Given the description of an element on the screen output the (x, y) to click on. 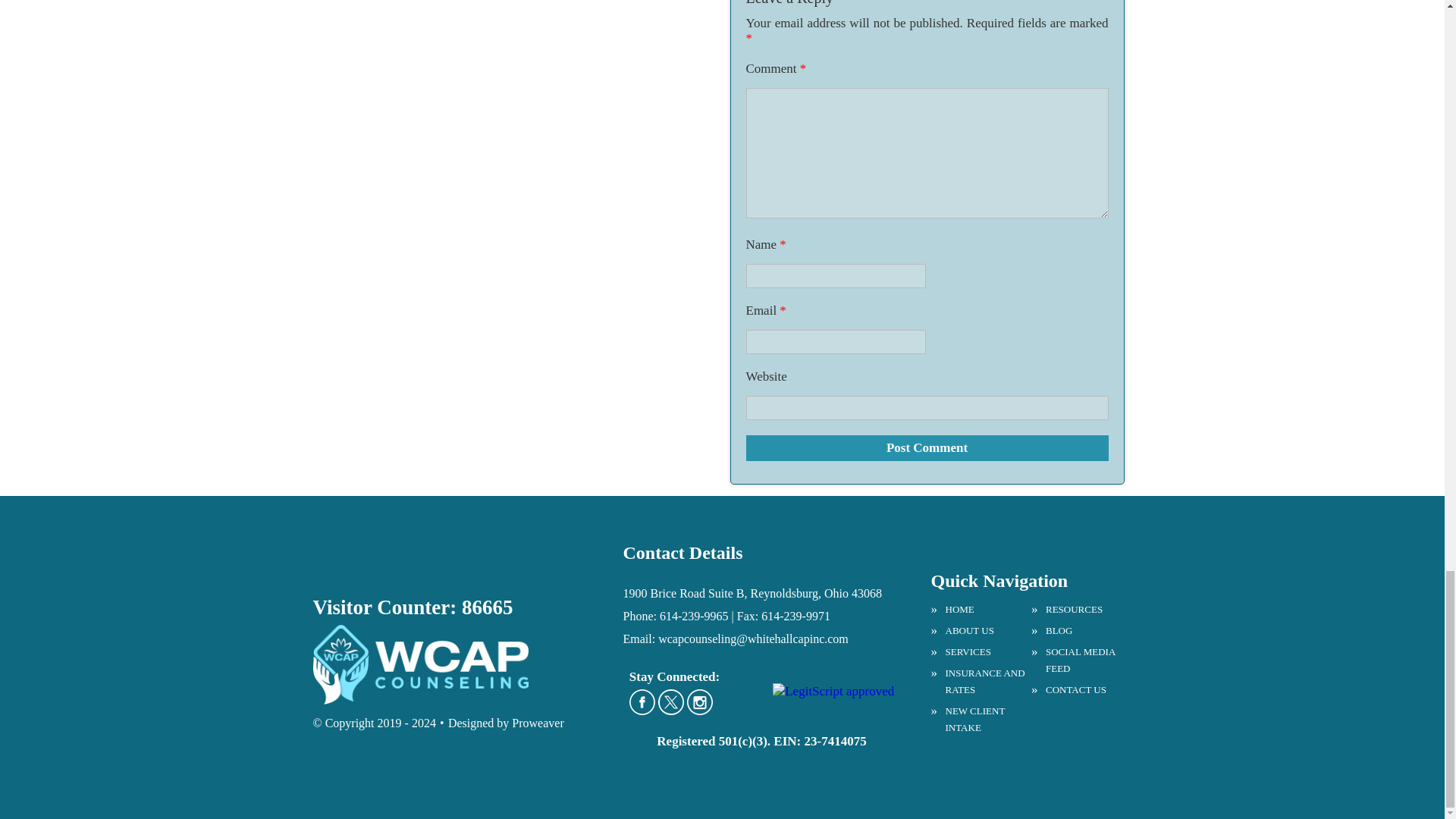
Post Comment (926, 447)
Post Comment (926, 447)
Verify LegitScript Approval (833, 690)
HOME (981, 609)
